Given the description of an element on the screen output the (x, y) to click on. 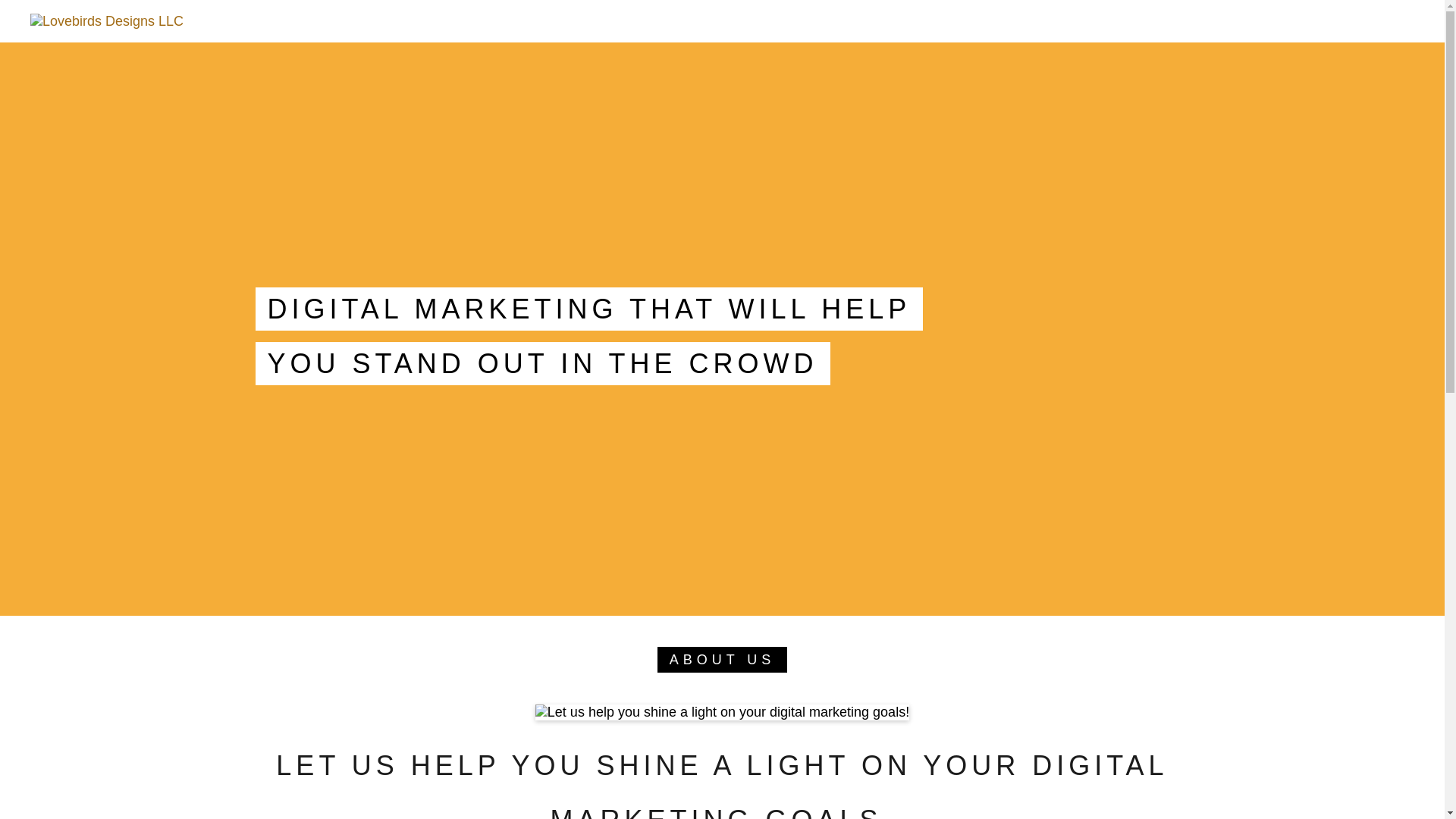
Lovebirds Designs LLC (106, 20)
